Given the description of an element on the screen output the (x, y) to click on. 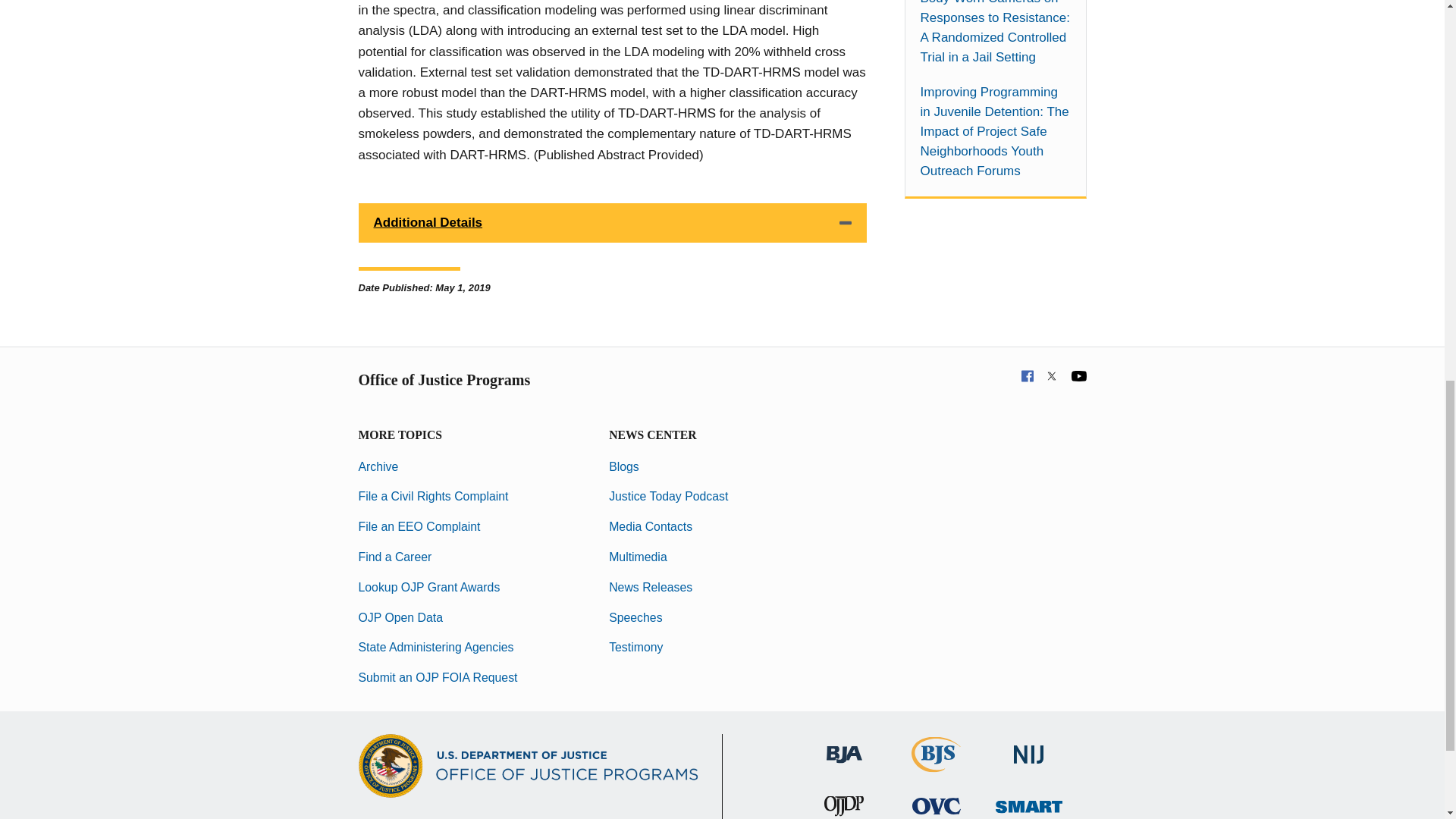
Additional Details (612, 222)
